Given the description of an element on the screen output the (x, y) to click on. 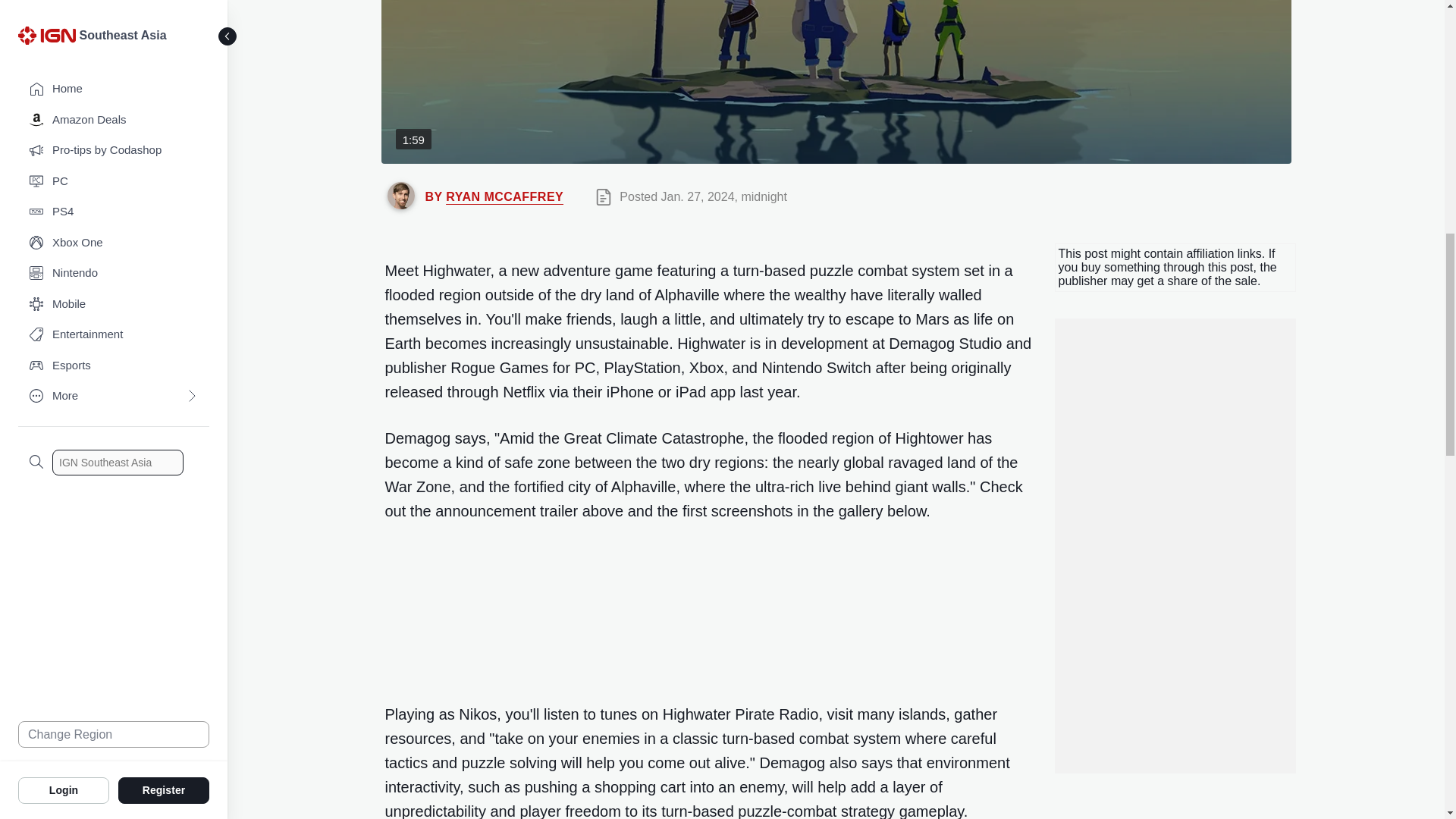
RYAN MCCAFFREY (504, 196)
